Given the description of an element on the screen output the (x, y) to click on. 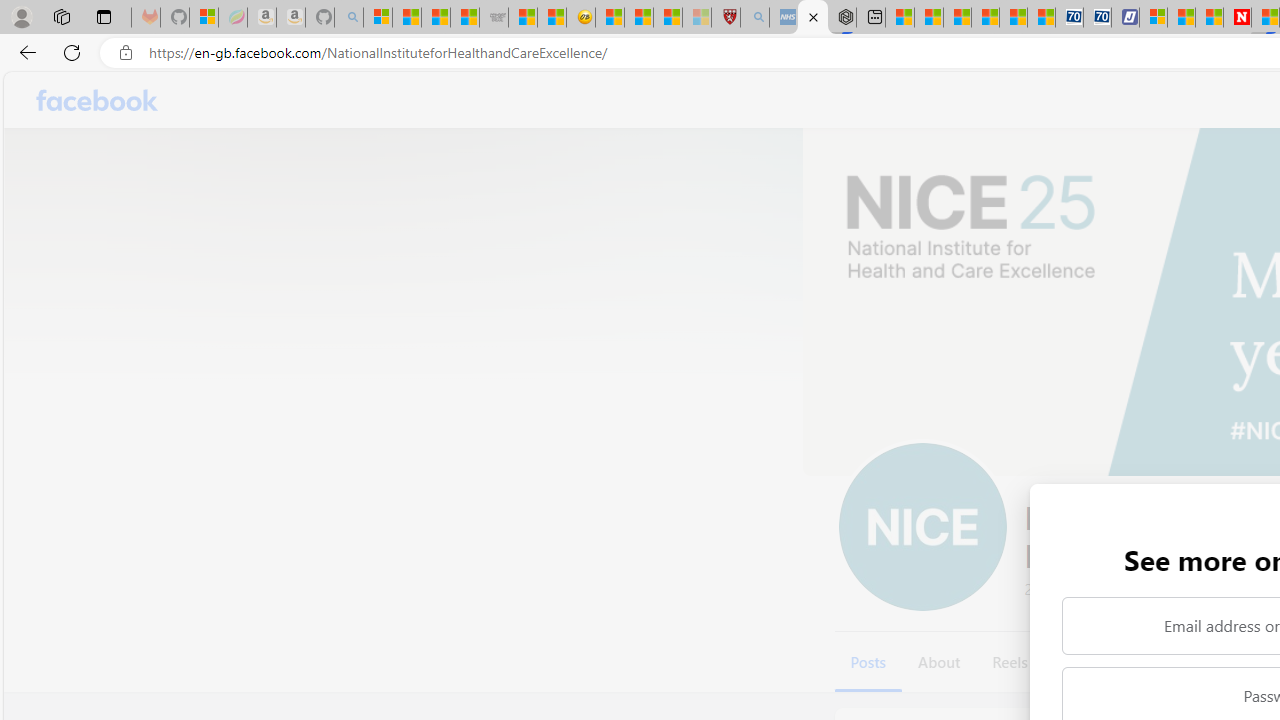
Facebook (97, 99)
12 Popular Science Lies that Must be Corrected - Sleeping (696, 17)
